Given the description of an element on the screen output the (x, y) to click on. 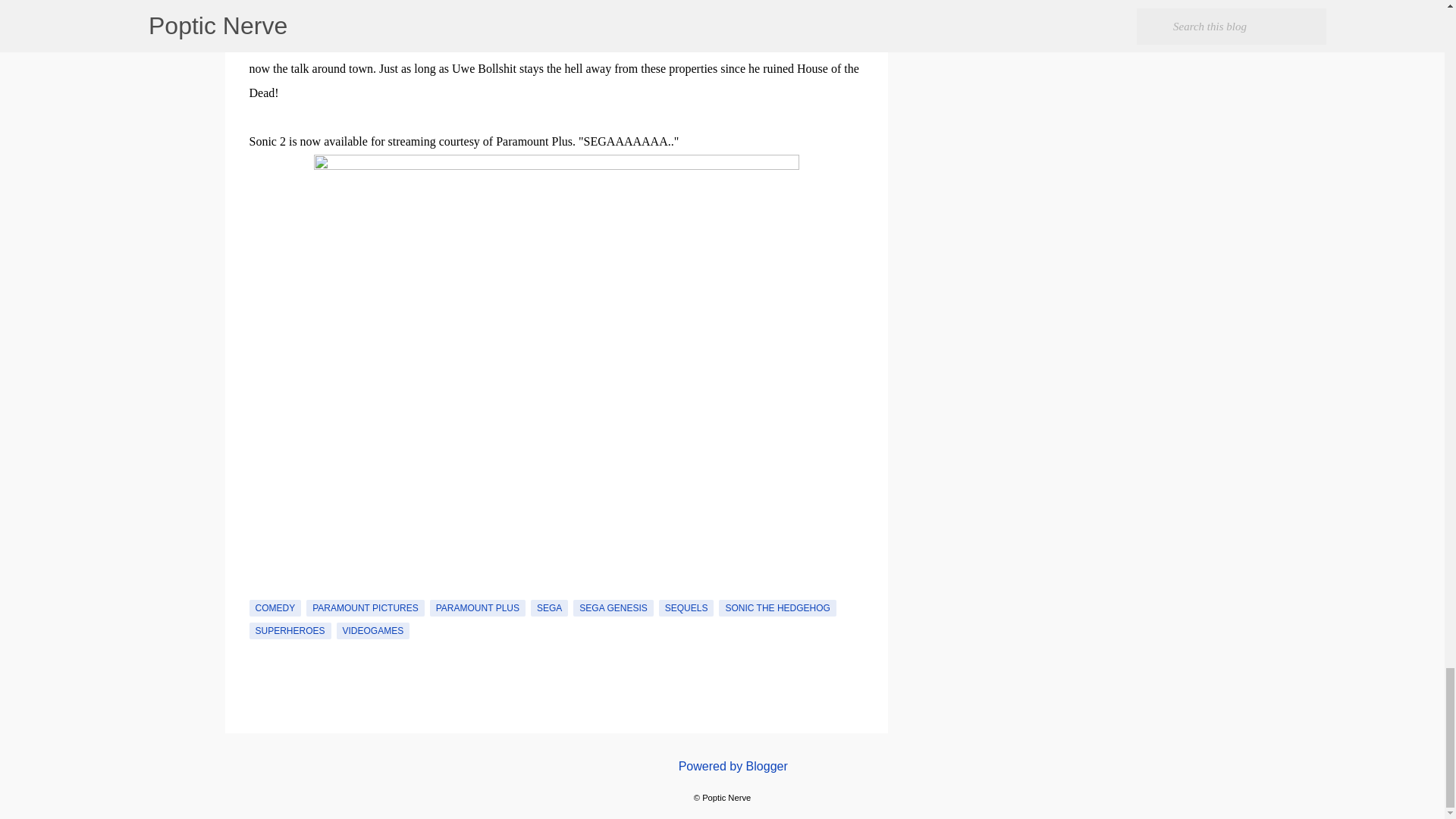
SONIC THE HEDGEHOG (777, 607)
SEGA GENESIS (612, 607)
Powered by Blogger (721, 766)
SUPERHEROES (289, 630)
VIDEOGAMES (373, 630)
PARAMOUNT PLUS (477, 607)
SEGA (549, 607)
PARAMOUNT PICTURES (365, 607)
COMEDY (274, 607)
SEQUELS (686, 607)
